Given the description of an element on the screen output the (x, y) to click on. 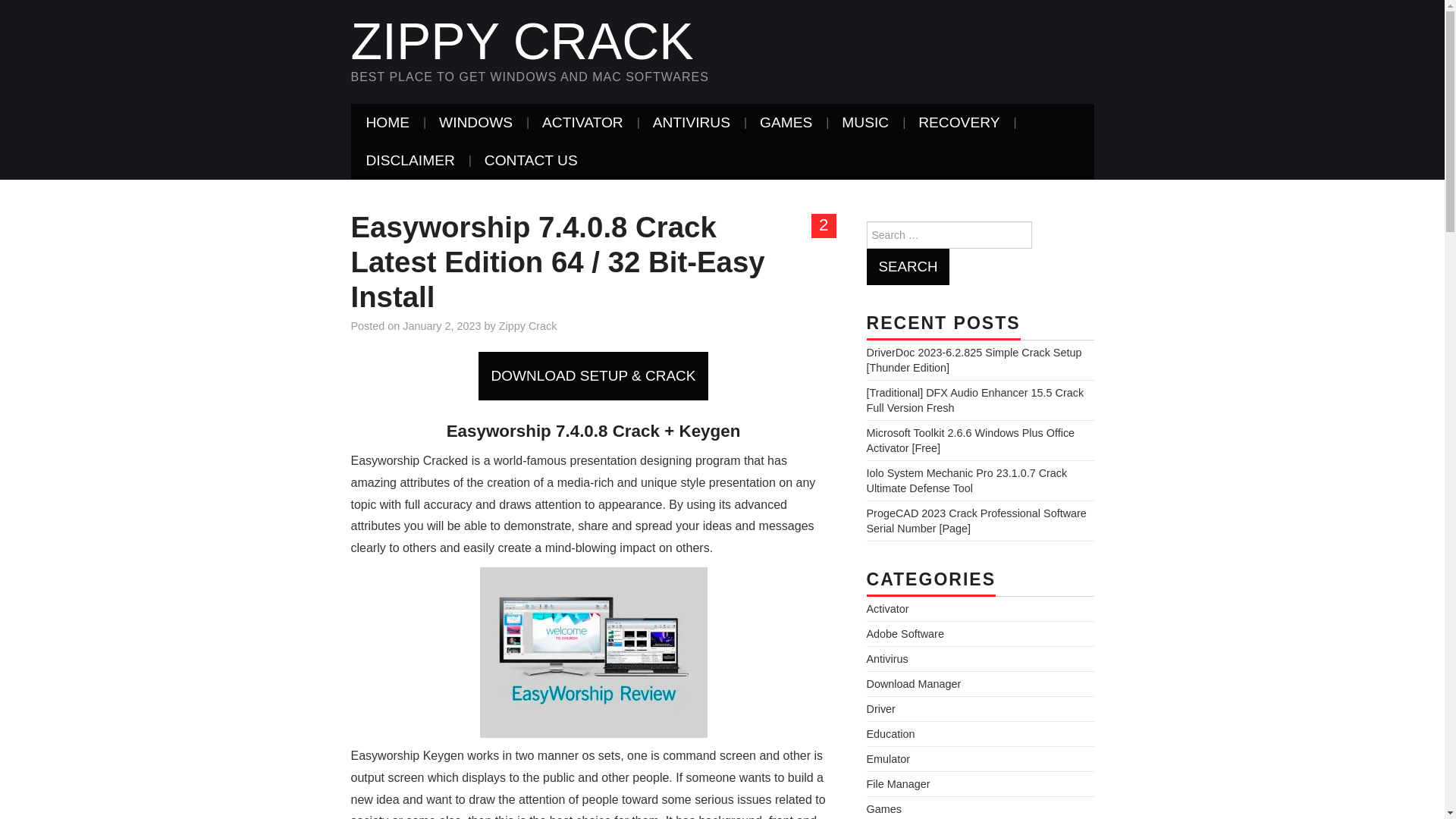
Activator (887, 608)
MUSIC (865, 122)
Zippy Crack (521, 40)
Search (907, 266)
GAMES (785, 122)
Download Manager (913, 684)
Antivirus (886, 658)
ACTIVATOR (583, 122)
2:33 pm (441, 326)
Search for: (948, 234)
Zippy Crack (528, 326)
ANTIVIRUS (691, 122)
CONTACT US (530, 160)
View all posts by Zippy Crack (528, 326)
ZIPPY CRACK (521, 40)
